Given the description of an element on the screen output the (x, y) to click on. 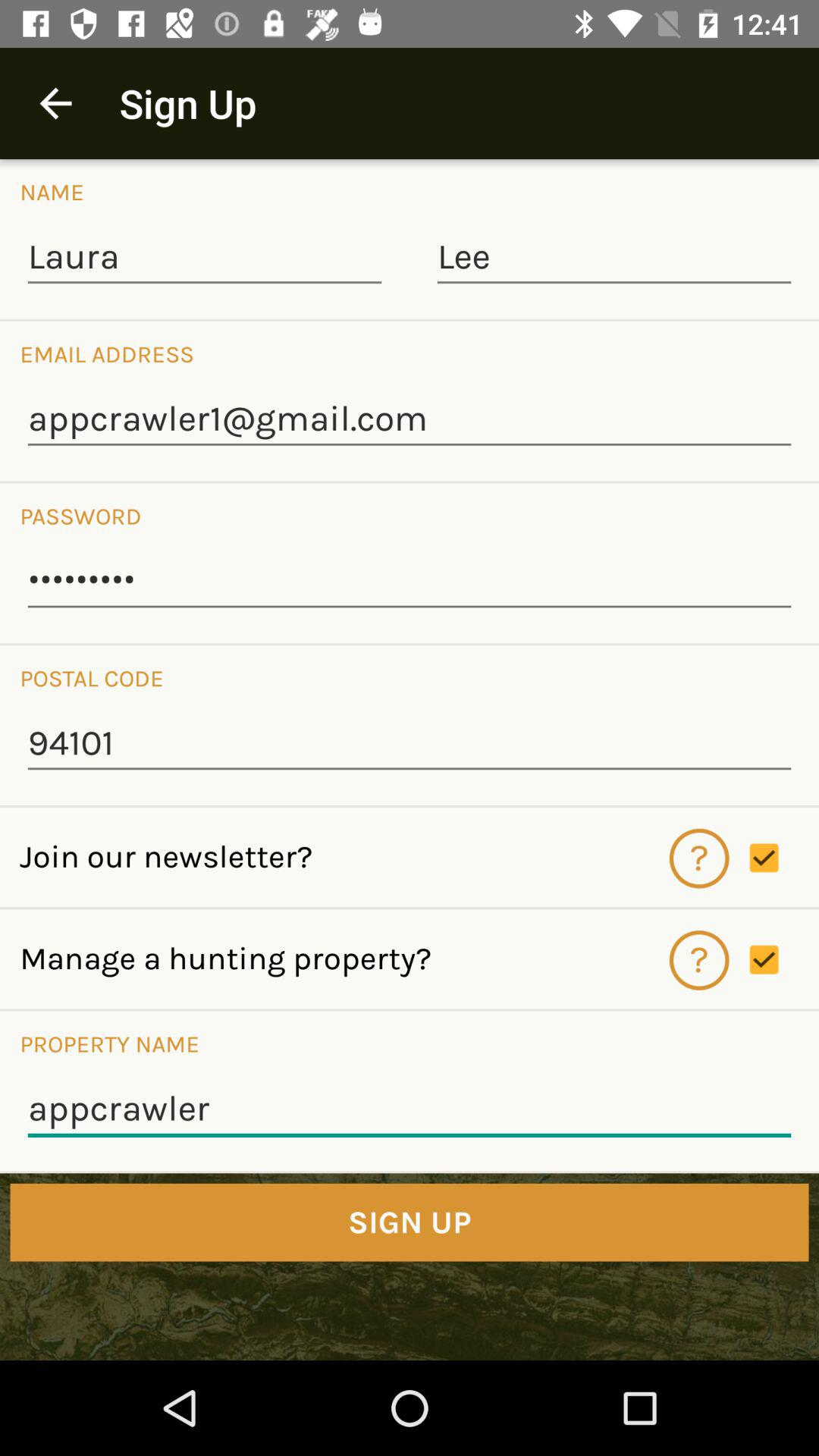
check whether to join newsletter (784, 857)
